Given the description of an element on the screen output the (x, y) to click on. 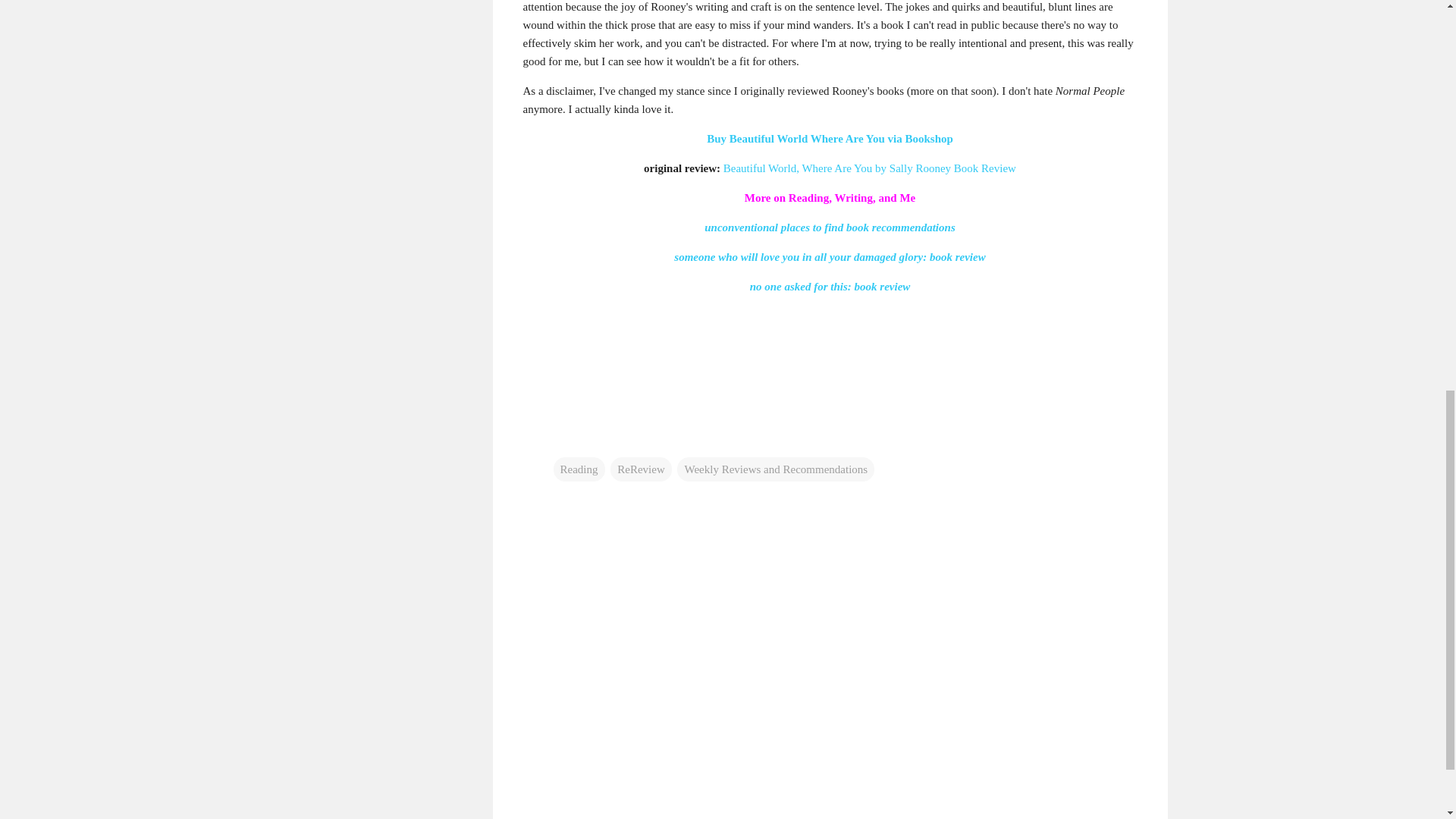
Reading (579, 468)
no one asked for this: book review (830, 286)
Email Post (562, 438)
Beautiful World, Where Are You by Sally Rooney Book Review (869, 168)
unconventional places to find book recommendations (829, 227)
ReReview (640, 468)
Weekly Reviews and Recommendations (776, 468)
Buy Beautiful World Where Are You via Bookshop (829, 137)
